Given the description of an element on the screen output the (x, y) to click on. 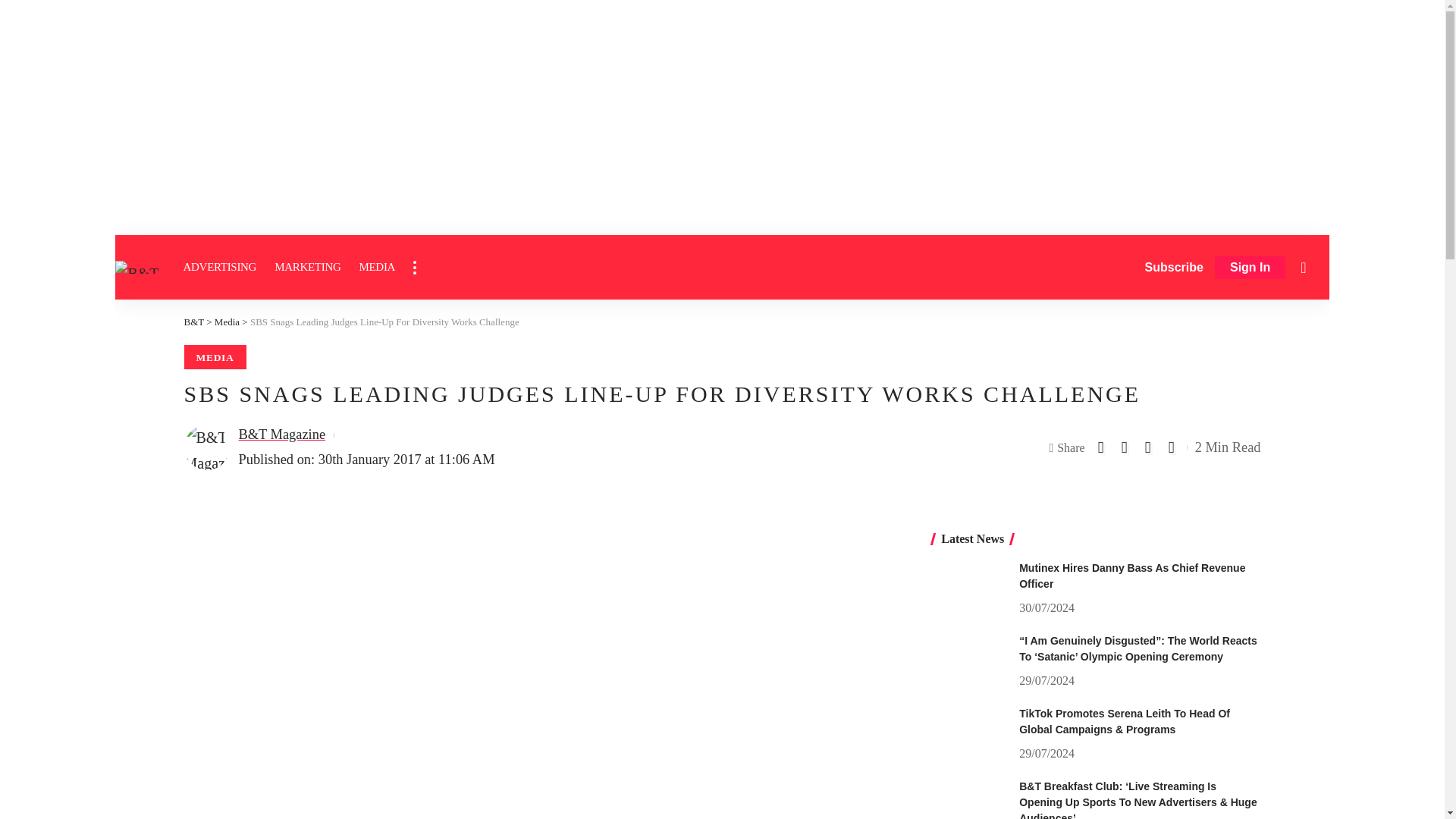
Subscribe (1174, 267)
MARKETING (306, 267)
Go to the Media Category archives. (227, 321)
Sign In (1249, 267)
ADVERTISING (220, 267)
Mutinex Hires Danny Bass As Chief Revenue Officer (969, 588)
